Given the description of an element on the screen output the (x, y) to click on. 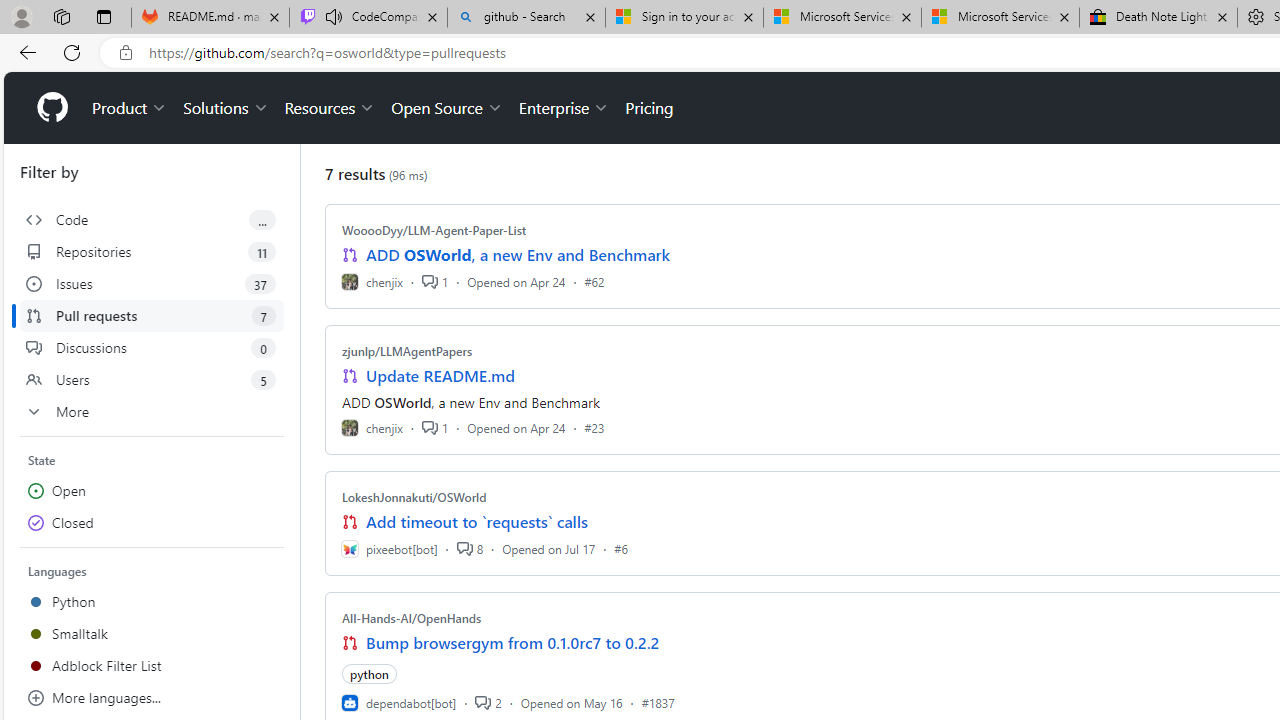
#1837 (657, 702)
Product (130, 107)
#23 (594, 427)
Enterprise (563, 107)
WooooDyy/LLM-Agent-Paper-List (434, 230)
More (152, 411)
More languages... (152, 697)
2 (487, 702)
